Given the description of an element on the screen output the (x, y) to click on. 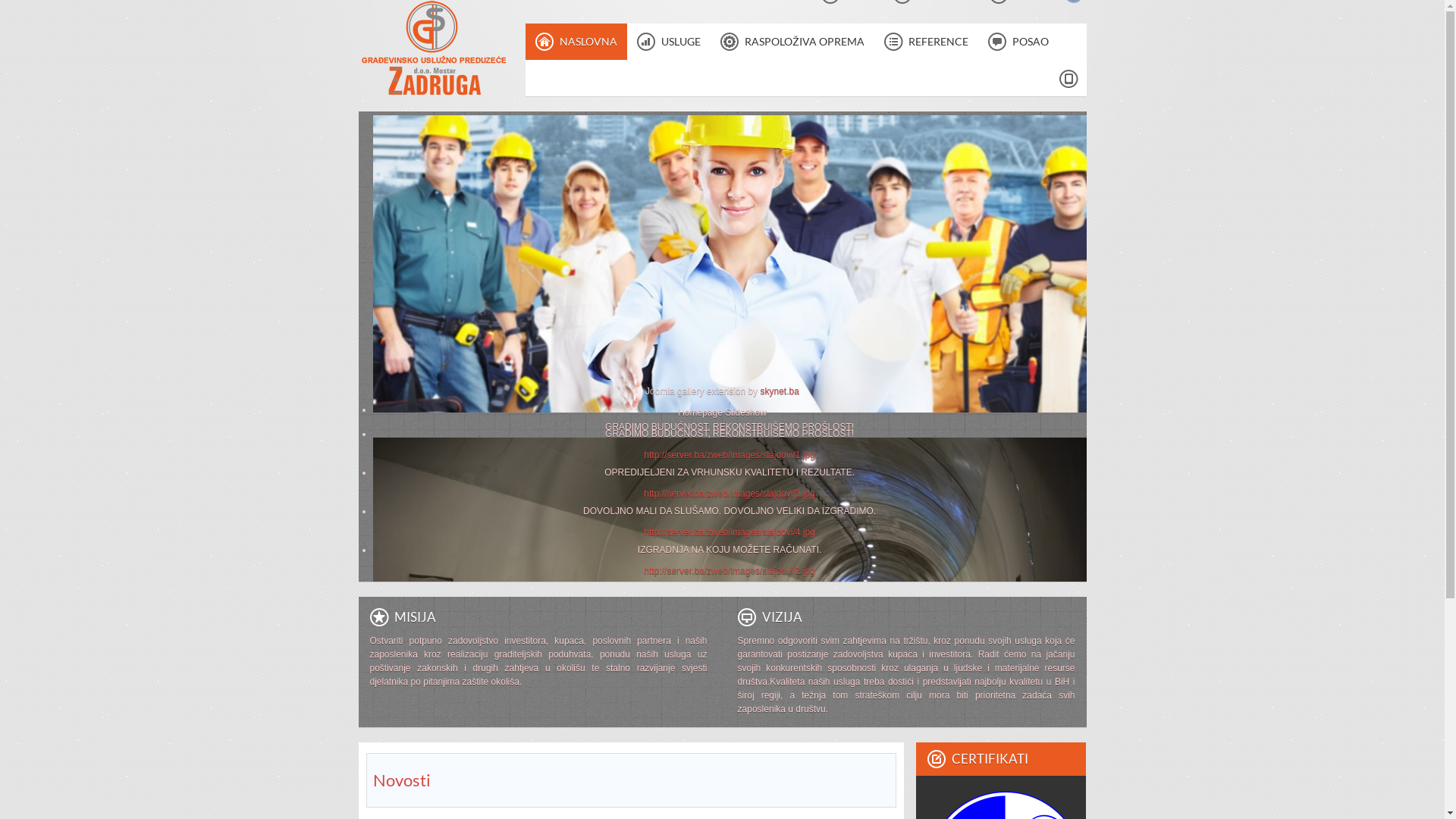
http://server.ba/zweb/images/slajdovi/1.jpg Element type: text (728, 454)
http://server.ba/zweb/images/slajdovi/2.jpg Element type: text (728, 570)
REFERENCE Element type: text (925, 41)
http://server.ba/zweb/images/slajdovi/4.jpg Element type: text (728, 532)
USLUGE Element type: text (667, 41)
skynet.ba Element type: text (779, 390)
NASLOVNA Element type: text (575, 41)
http://server.ba/zweb/images/slajdovi/3.jpg Element type: text (728, 493)
POSAO Element type: text (1018, 41)
